Given the description of an element on the screen output the (x, y) to click on. 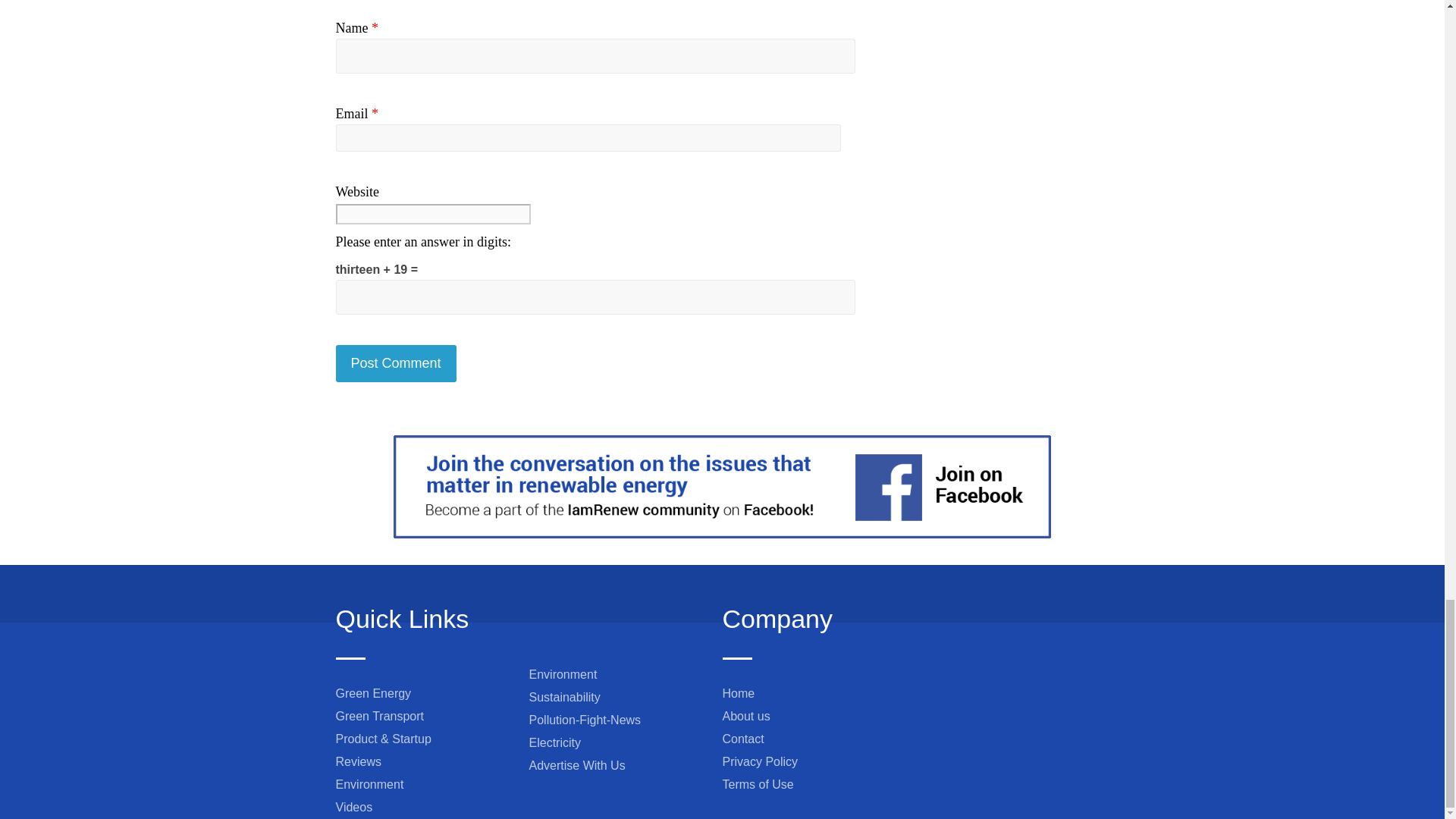
Post Comment (394, 363)
